Given the description of an element on the screen output the (x, y) to click on. 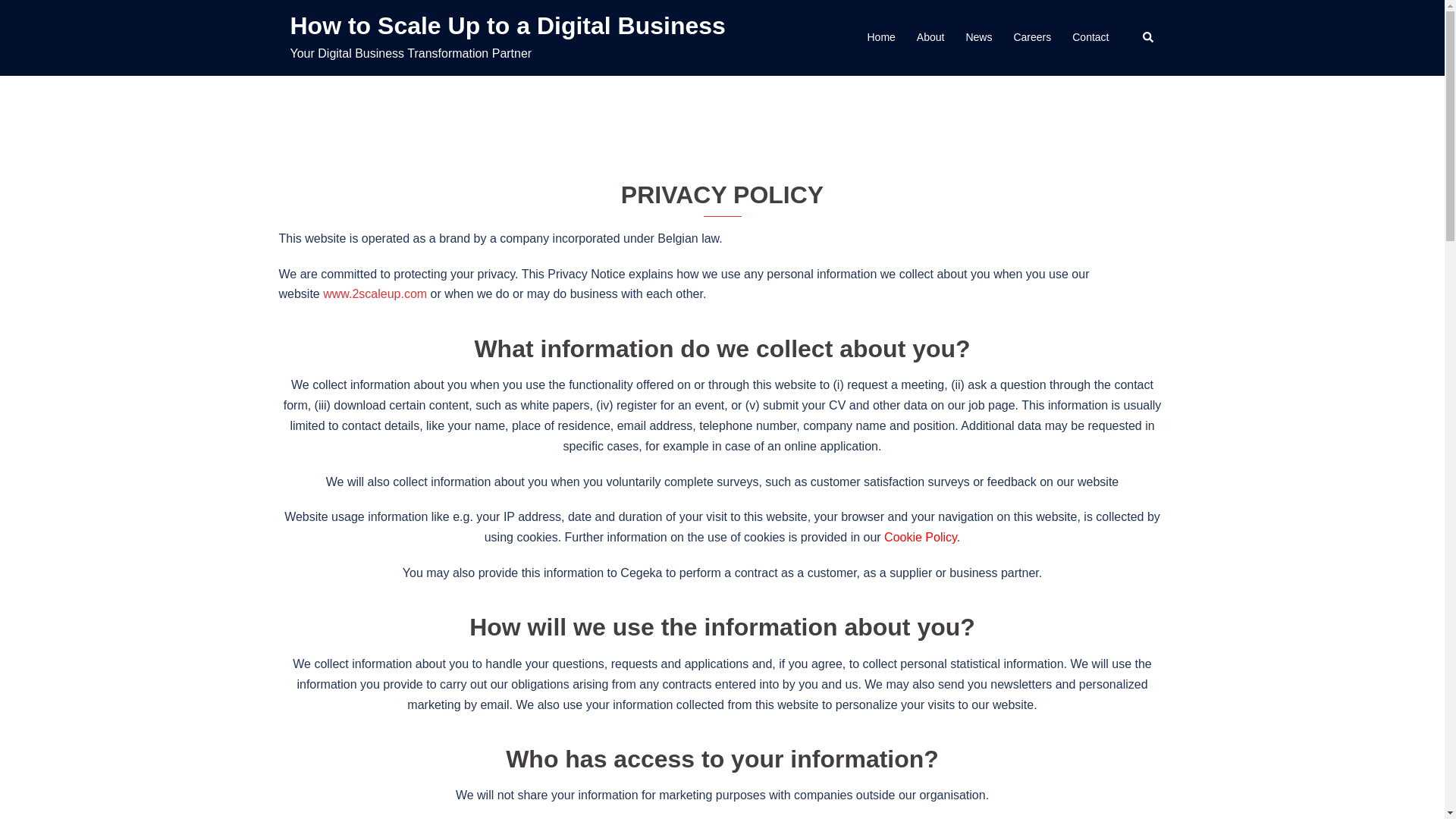
News Element type: text (978, 37)
Home Element type: text (880, 37)
Contact Element type: text (1090, 37)
About Element type: text (930, 37)
Search Element type: text (1148, 37)
How to Scale Up to a Digital Business Element type: text (506, 25)
Cookie Policy Element type: text (920, 536)
www.2scaleup.com Element type: text (374, 293)
Careers Element type: text (1032, 37)
